Given the description of an element on the screen output the (x, y) to click on. 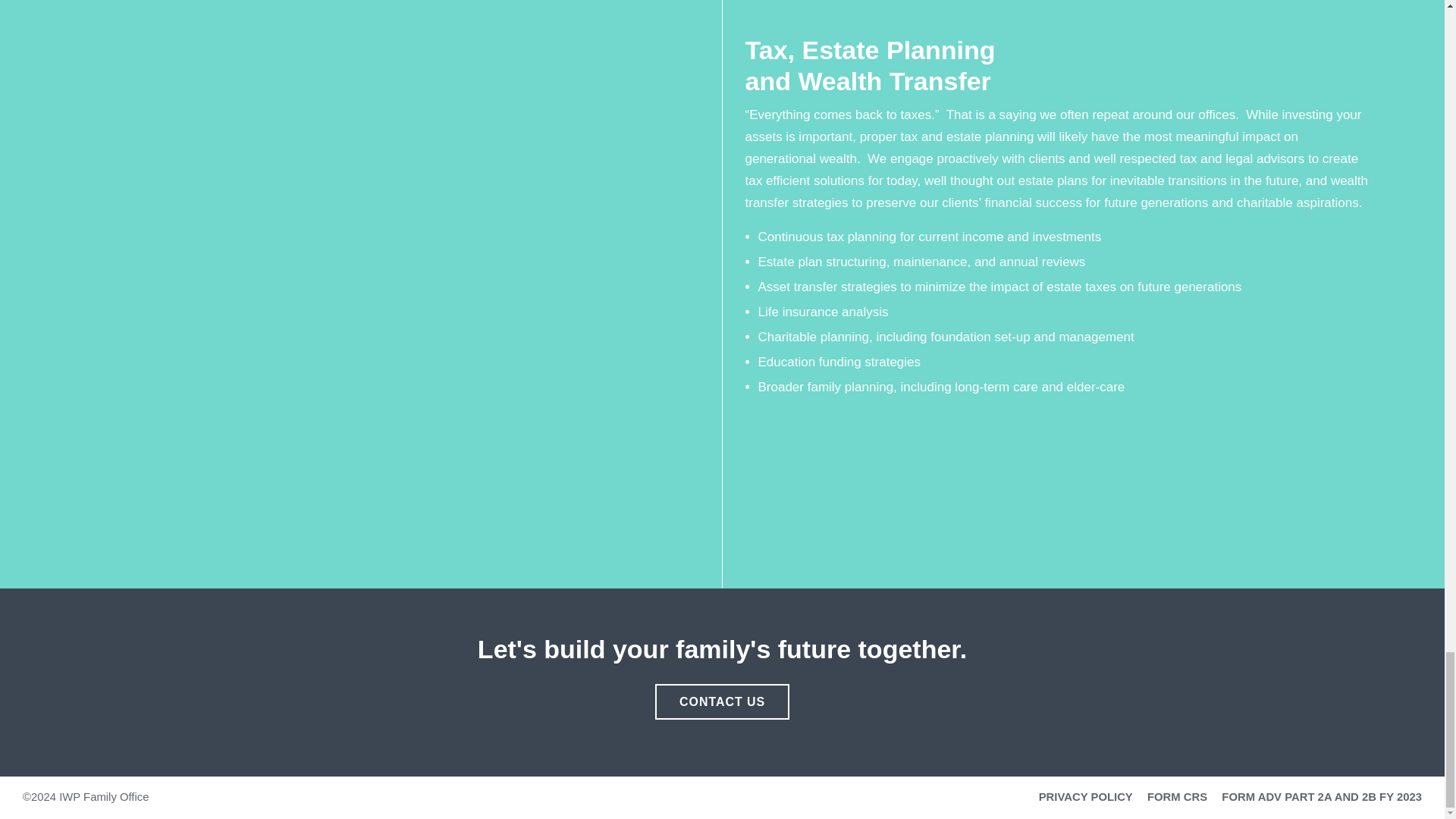
FORM ADV PART 2A AND 2B FY 2023 (1321, 797)
PRIVACY POLICY (1085, 797)
CONTACT US (722, 701)
FORM CRS (1177, 797)
